Given the description of an element on the screen output the (x, y) to click on. 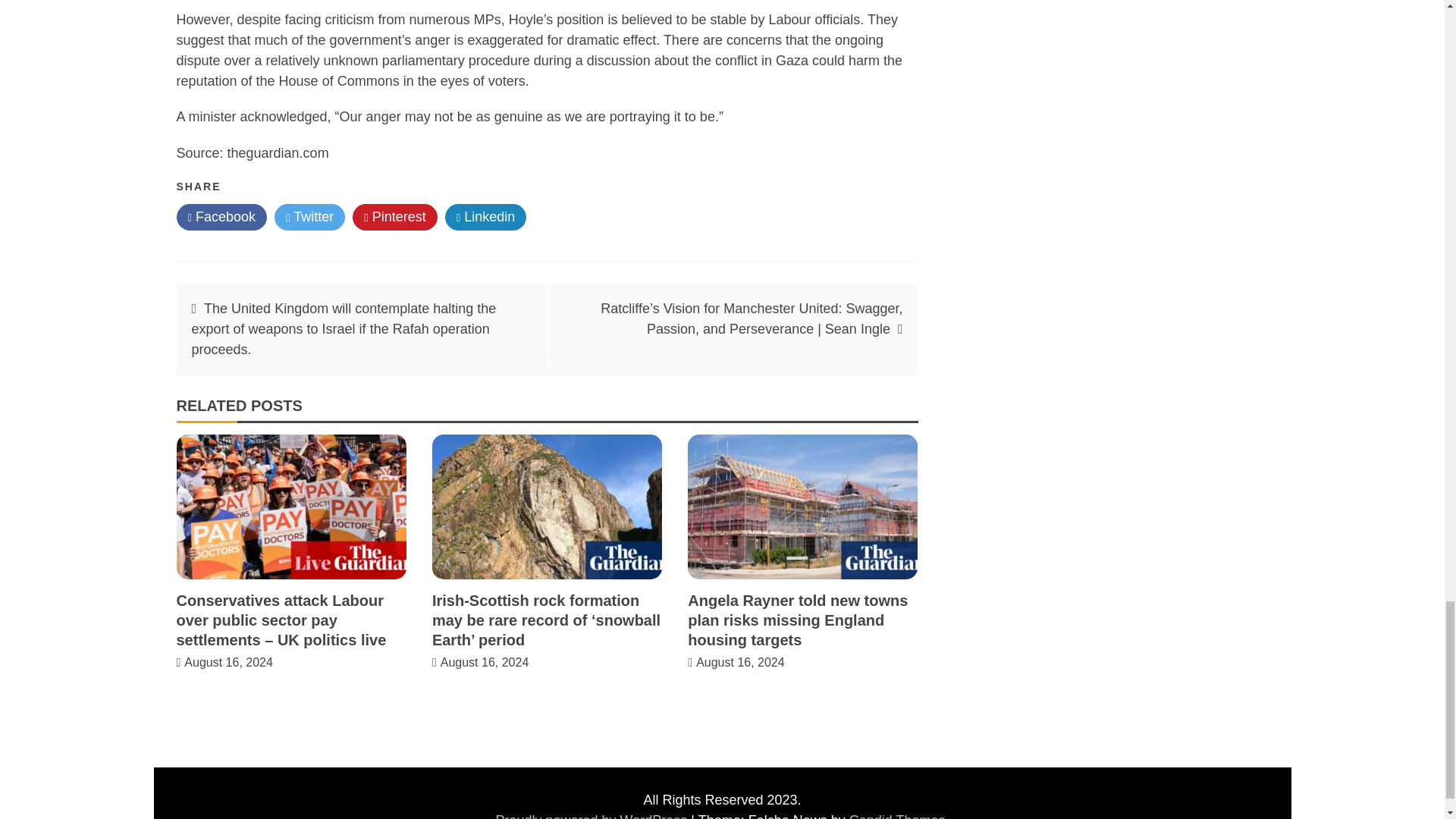
August 16, 2024 (228, 662)
Facebook (221, 216)
August 16, 2024 (739, 662)
August 16, 2024 (485, 662)
Pinterest (395, 216)
Twitter (310, 216)
Linkedin (486, 216)
